Given the description of an element on the screen output the (x, y) to click on. 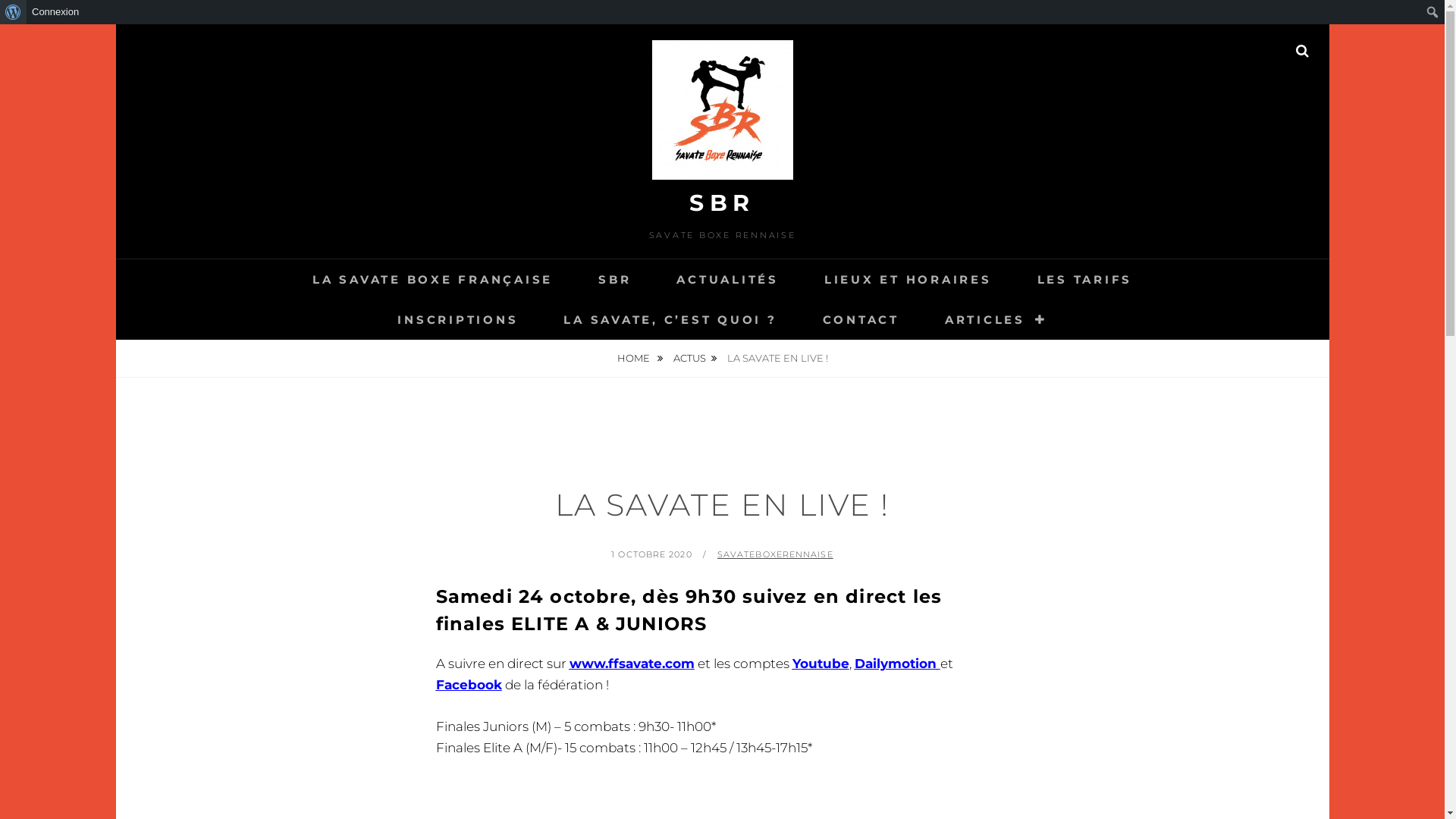
ARTICLES Element type: text (995, 319)
LIEUX ET HORAIRES Element type: text (908, 279)
Youtube Element type: text (819, 663)
ACTUS Element type: text (694, 357)
Dailymotion Element type: text (896, 663)
INSCRIPTIONS Element type: text (457, 319)
Connexion Element type: text (55, 12)
HOME Element type: text (639, 357)
LES TARIFS Element type: text (1085, 279)
SBR Element type: text (722, 202)
SAVATEBOXERENNAISE Element type: text (775, 554)
Rechercher Element type: text (25, 12)
Skip to content Element type: text (115, 23)
SEARCH Element type: text (1302, 50)
SBR Element type: text (614, 279)
www.ffsavate.com Element type: text (630, 663)
CONTACT Element type: text (860, 319)
Facebook Element type: text (468, 683)
